Given the description of an element on the screen output the (x, y) to click on. 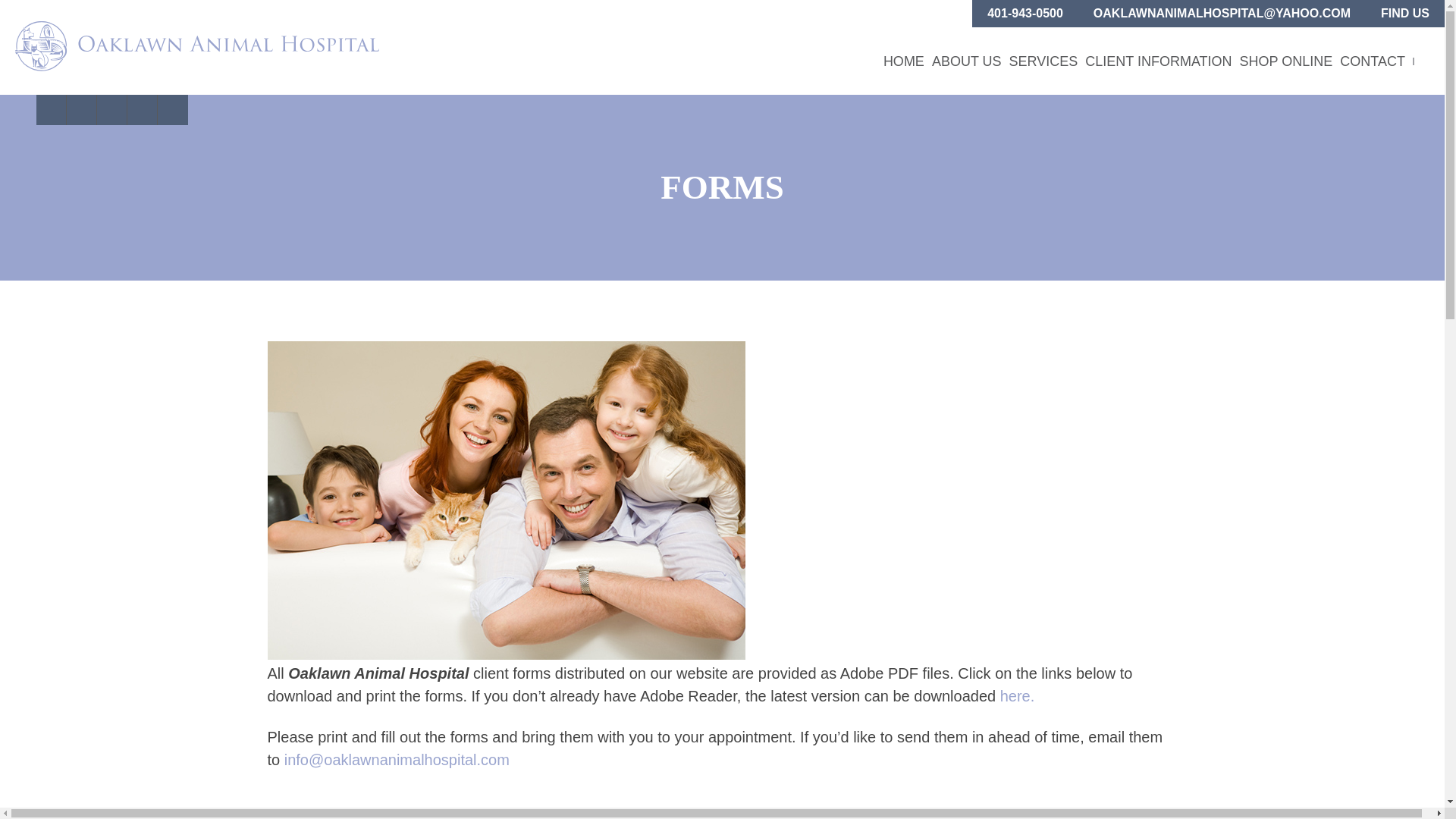
SERVICES (1043, 61)
401-943-0500 (1025, 13)
CLIENT INFORMATION (1157, 61)
FIND US (1404, 13)
CONTACT (1372, 61)
Search (21, 7)
ABOUT US (966, 61)
SHOP ONLINE (1286, 61)
